Given the description of an element on the screen output the (x, y) to click on. 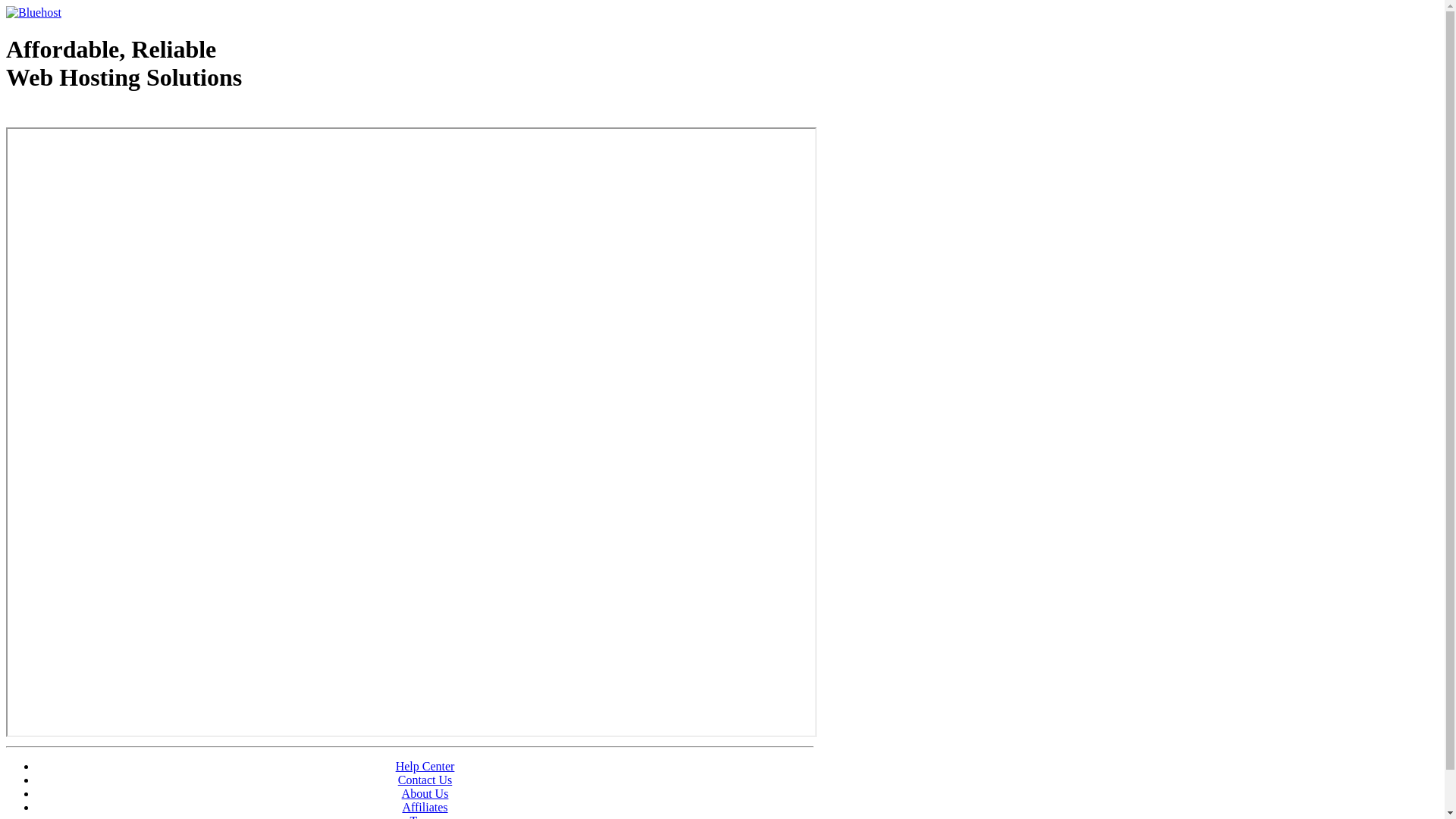
About Us Element type: text (424, 793)
Web Hosting - courtesy of www.bluehost.com Element type: text (94, 115)
Contact Us Element type: text (425, 779)
Help Center Element type: text (425, 765)
Affiliates Element type: text (424, 806)
